Given the description of an element on the screen output the (x, y) to click on. 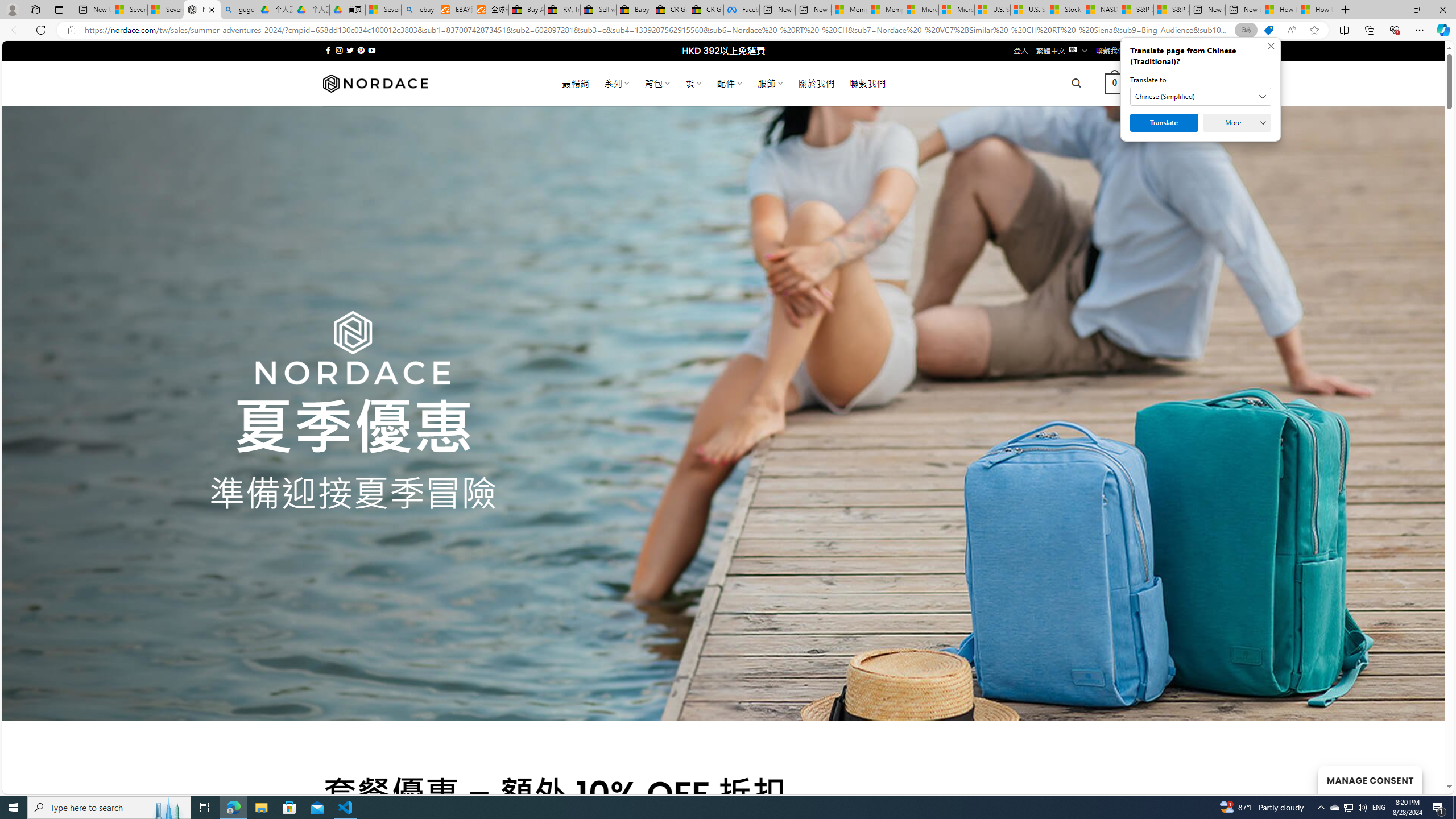
Translate to (1200, 96)
guge yunpan - Search (238, 9)
Buy Auto Parts & Accessories | eBay (525, 9)
Address and search bar (658, 29)
ebay - Search (419, 9)
Split screen (1344, 29)
 0  (1115, 83)
MANAGE CONSENT (1369, 779)
Tab actions menu (58, 9)
View site information (70, 29)
